Given the description of an element on the screen output the (x, y) to click on. 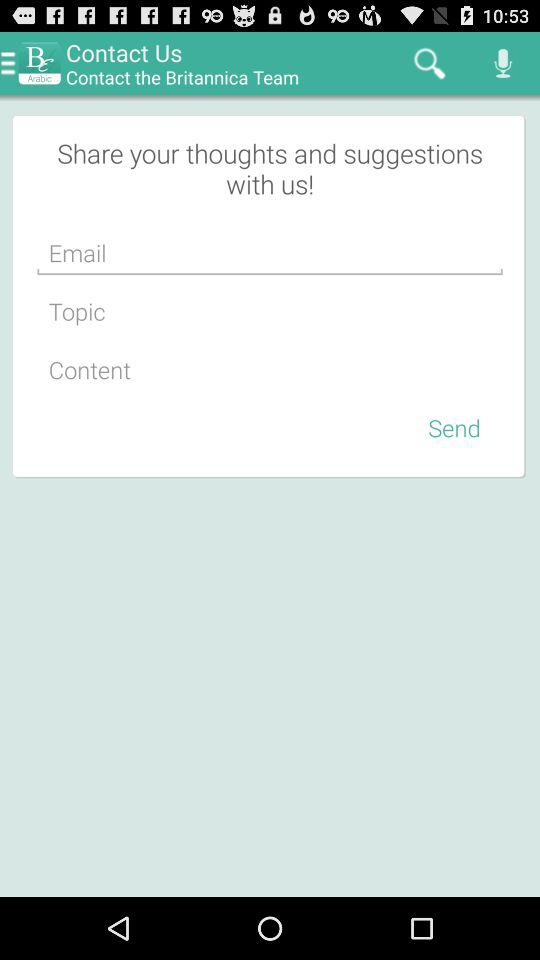
here to discuss content (270, 370)
